Given the description of an element on the screen output the (x, y) to click on. 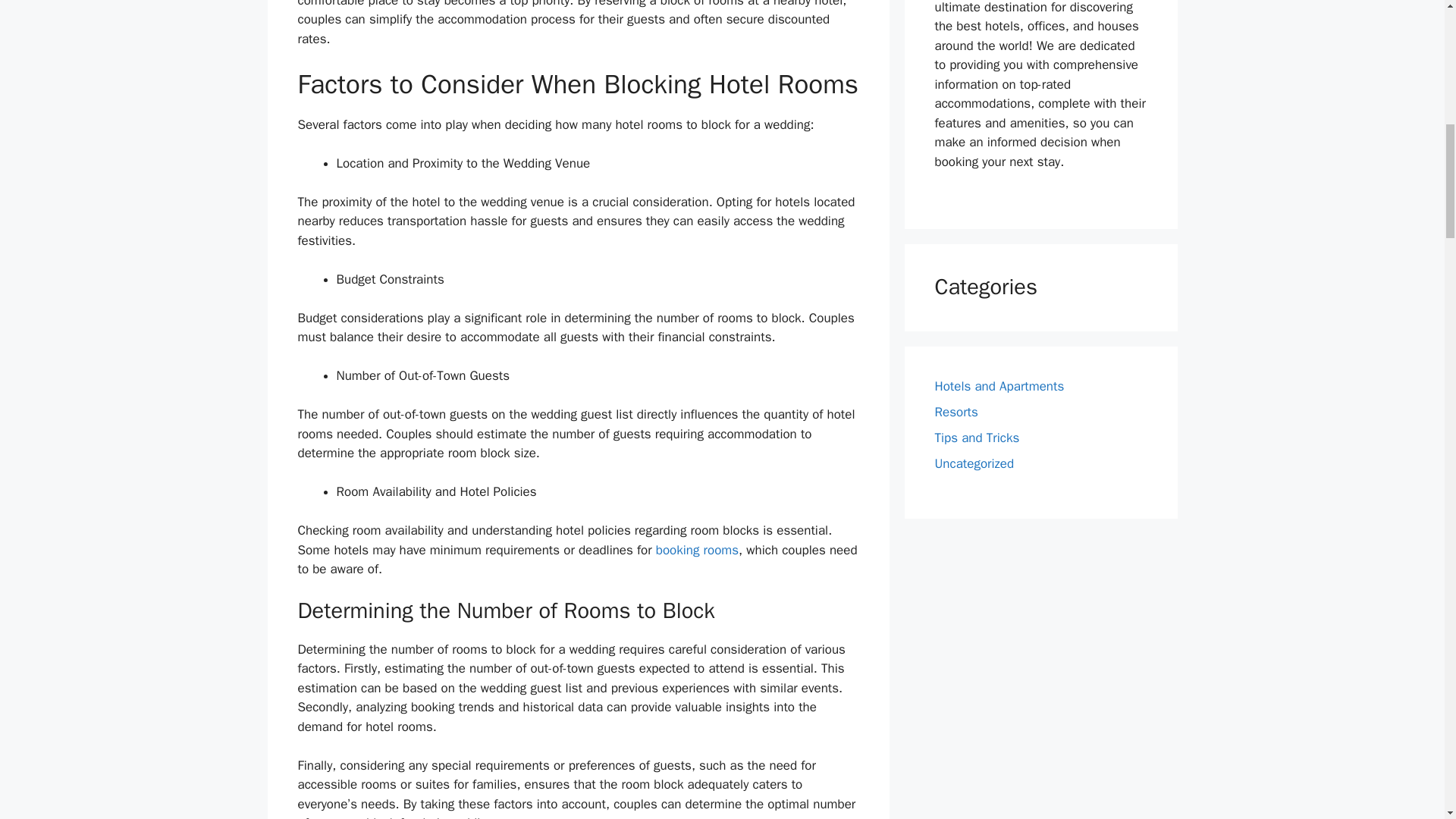
booking rooms (697, 549)
Hotels and Apartments (999, 385)
Uncategorized (973, 463)
Tips and Tricks (976, 437)
Resorts (955, 412)
